Given the description of an element on the screen output the (x, y) to click on. 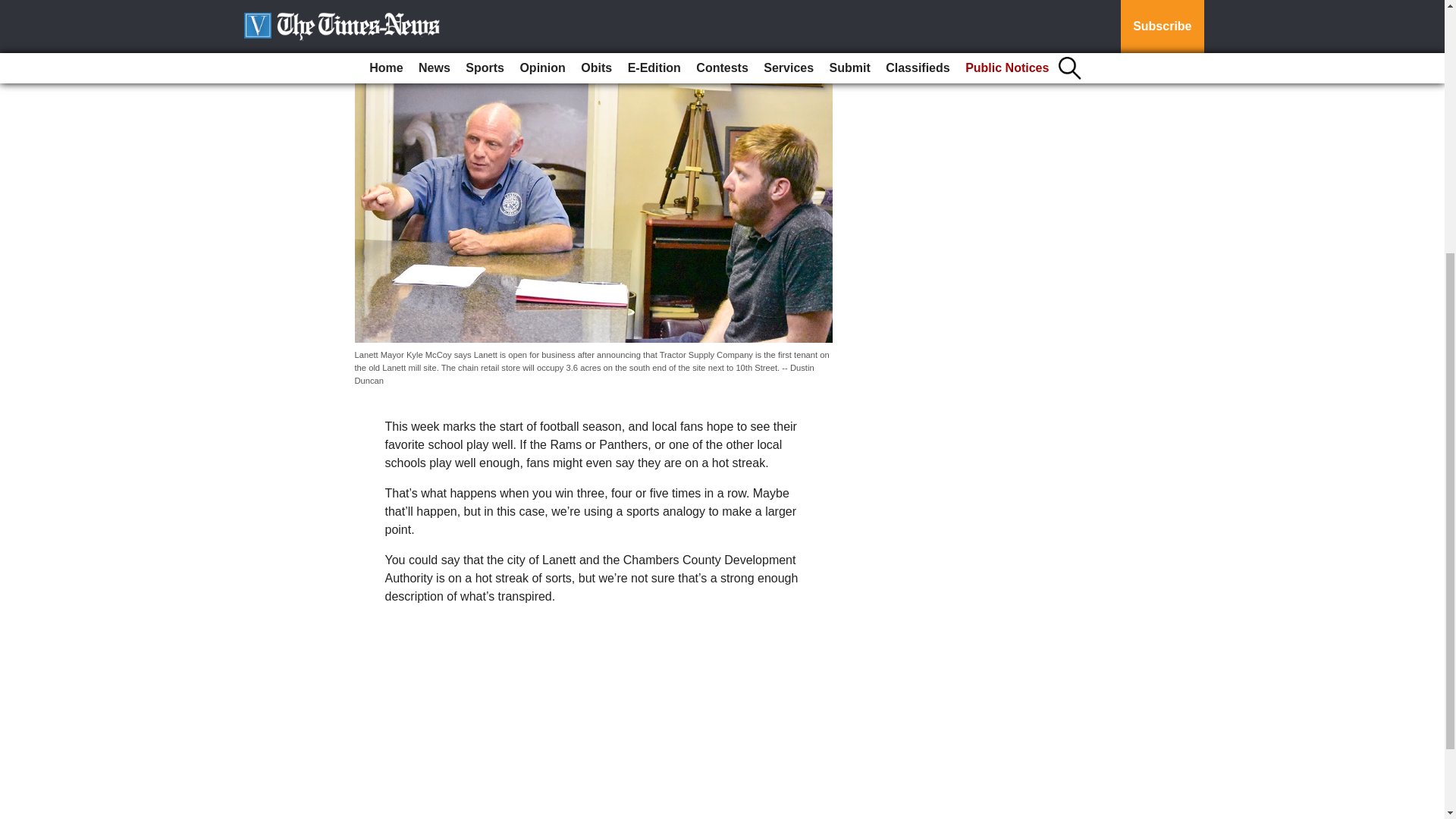
Staff Reports (394, 20)
